Given the description of an element on the screen output the (x, y) to click on. 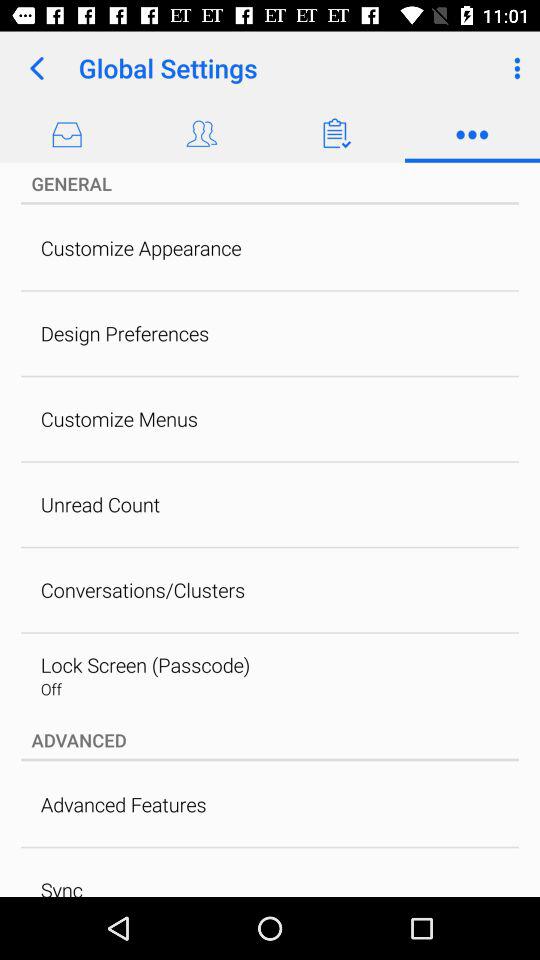
turn on item below lock screen (passcode) app (50, 688)
